Given the description of an element on the screen output the (x, y) to click on. 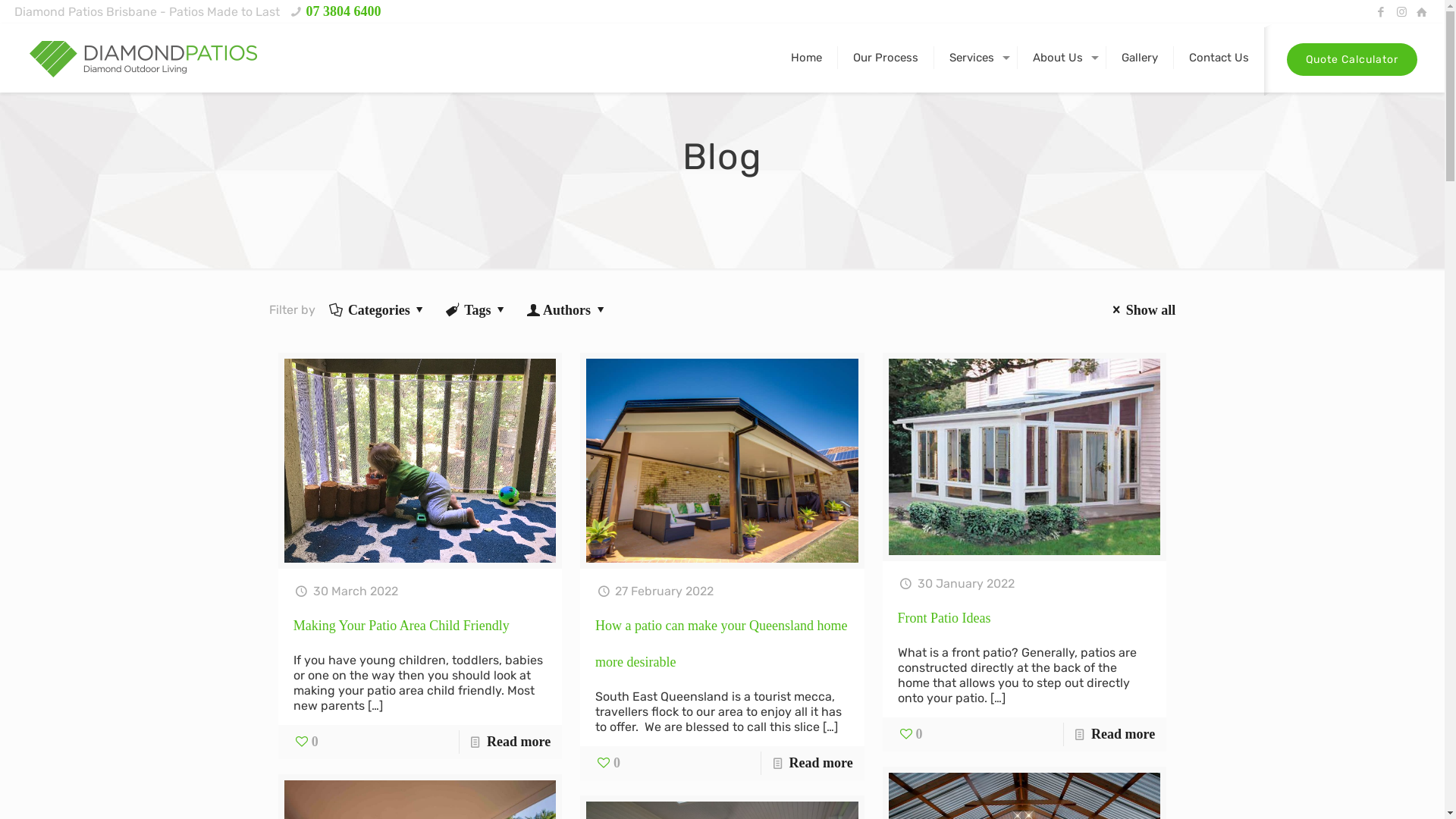
Categories Element type: text (378, 309)
How a patio can make your Queensland home more desirable Element type: text (721, 643)
0 Element type: text (909, 733)
Read more Element type: text (821, 762)
Facebook Element type: hover (1381, 12)
Read more Element type: text (1122, 733)
07 3804 6400 Element type: text (342, 10)
Services Element type: text (975, 57)
Making Your Patio Area Child Friendly Element type: text (401, 625)
Quote Calculator Element type: text (1351, 59)
Read more Element type: text (518, 741)
Front Patio Ideas Element type: text (944, 617)
Tags Element type: text (477, 309)
Gallery Element type: text (1139, 57)
Show all Element type: text (1141, 309)
Home Element type: text (806, 57)
Diamond Patios Brisbane Element type: hover (143, 57)
Instagram Element type: hover (1401, 12)
Authors Element type: text (566, 309)
Our Process Element type: text (885, 57)
0 Element type: text (607, 762)
About Us Element type: text (1061, 57)
Contact Us Element type: text (1218, 57)
0 Element type: text (305, 741)
